Given the description of an element on the screen output the (x, y) to click on. 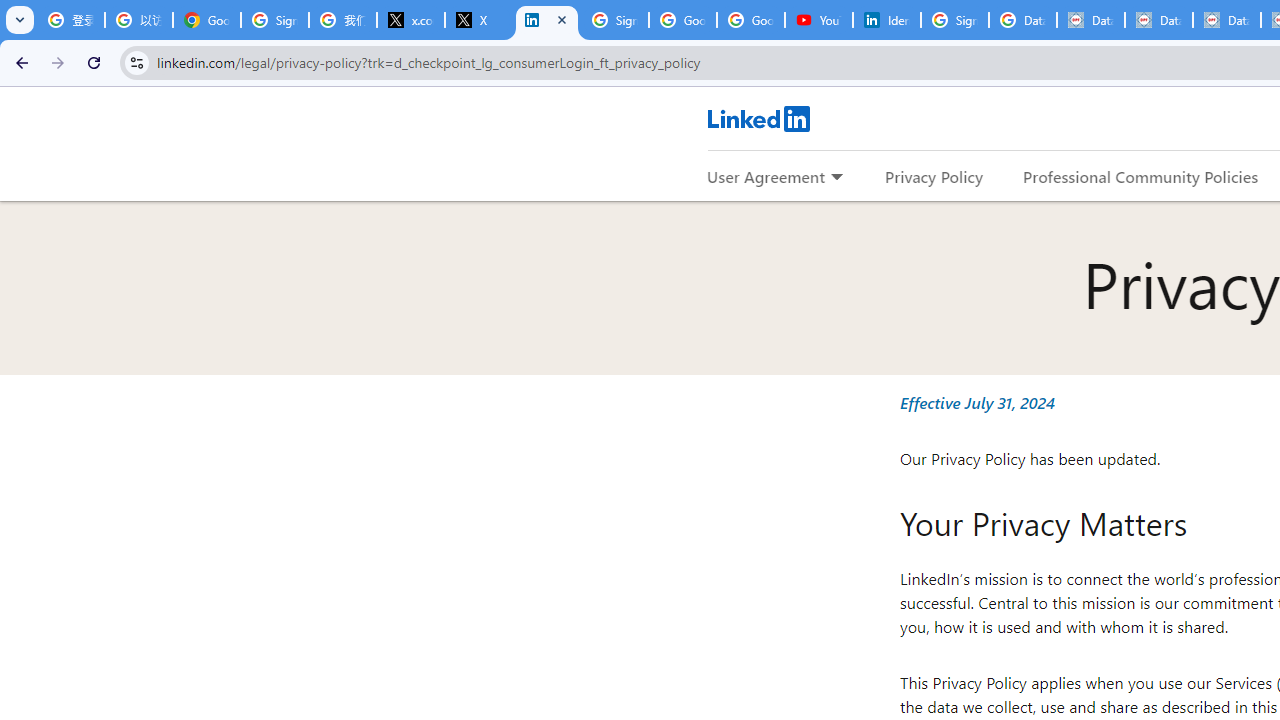
Data Privacy Framework (1226, 20)
Professional Community Policies (1140, 176)
Expand to show more links for User Agreement (836, 178)
Data Privacy Framework (1158, 20)
Identity verification via Persona | LinkedIn Help (886, 20)
LinkedIn Logo (758, 118)
Sign in - Google Accounts (274, 20)
